Given the description of an element on the screen output the (x, y) to click on. 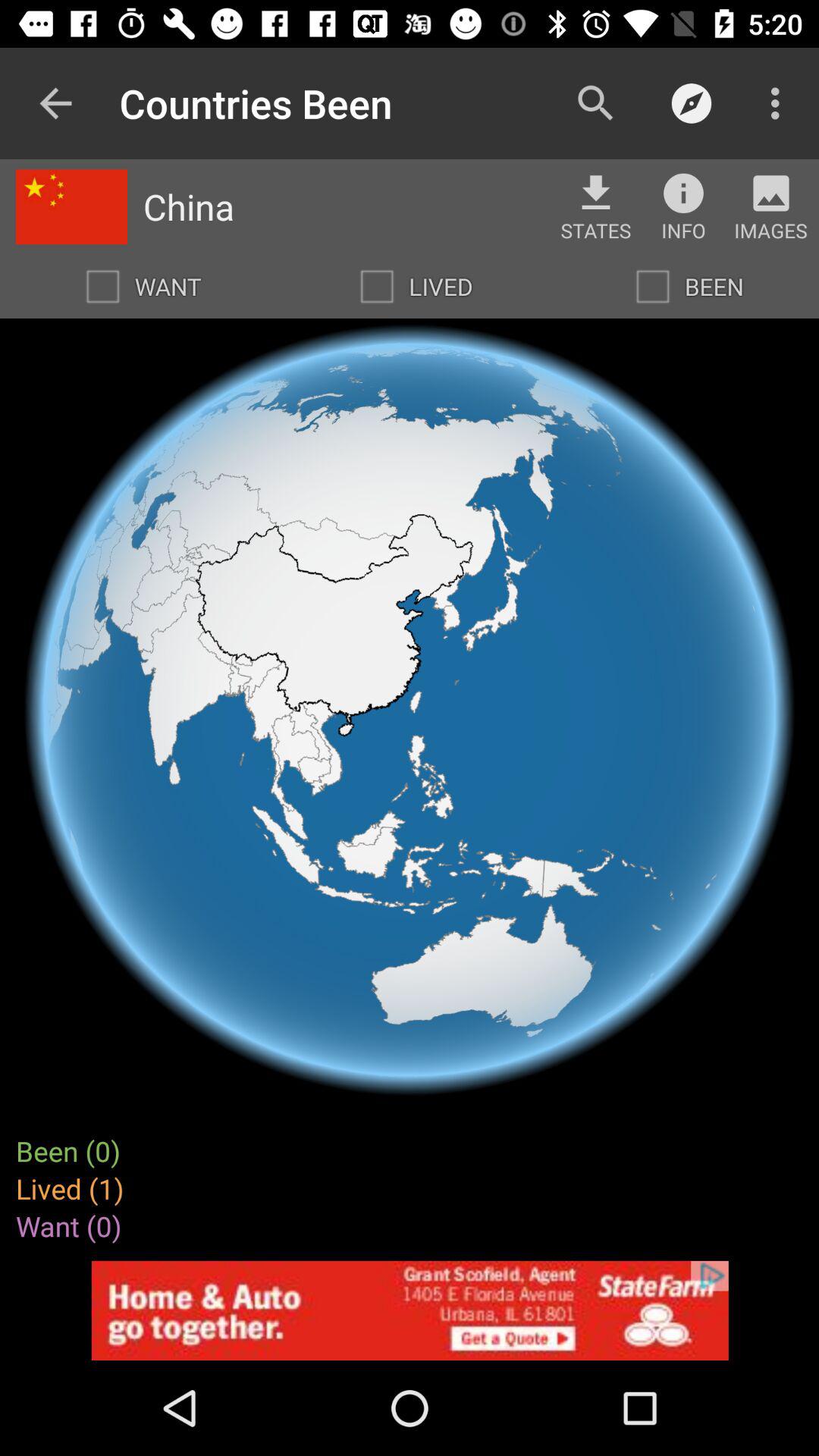
switch lived option (376, 286)
